Given the description of an element on the screen output the (x, y) to click on. 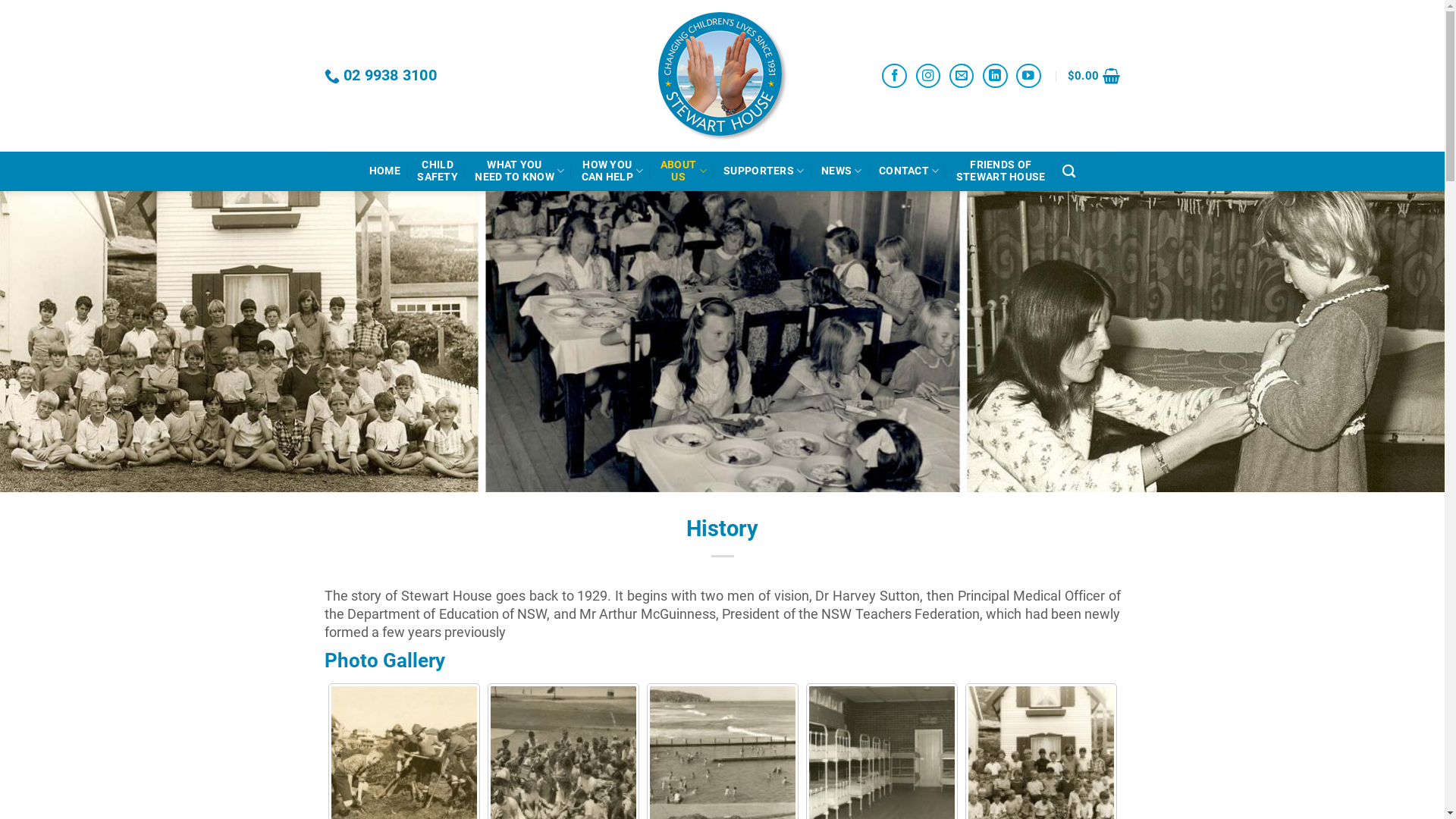
HOME Element type: text (384, 171)
NEWS Element type: text (841, 170)
SUPPORTERS Element type: text (763, 170)
Follow on Facebook Element type: hover (893, 75)
WHAT YOU
NEED TO KNOW Element type: text (519, 171)
02 9938 3100 Element type: text (380, 75)
FRIENDS OF
STEWART HOUSE Element type: text (1000, 171)
Follow on YouTube Element type: hover (1028, 75)
CONTACT Element type: text (908, 170)
Send us an email Element type: hover (961, 75)
$0.00 Element type: text (1093, 75)
Follow on LinkedIn Element type: hover (994, 75)
Follow on Instagram Element type: hover (928, 75)
ABOUT
US Element type: text (683, 171)
HOW YOU
CAN HELP Element type: text (612, 171)
CHILD
SAFETY Element type: text (437, 171)
